Given the description of an element on the screen output the (x, y) to click on. 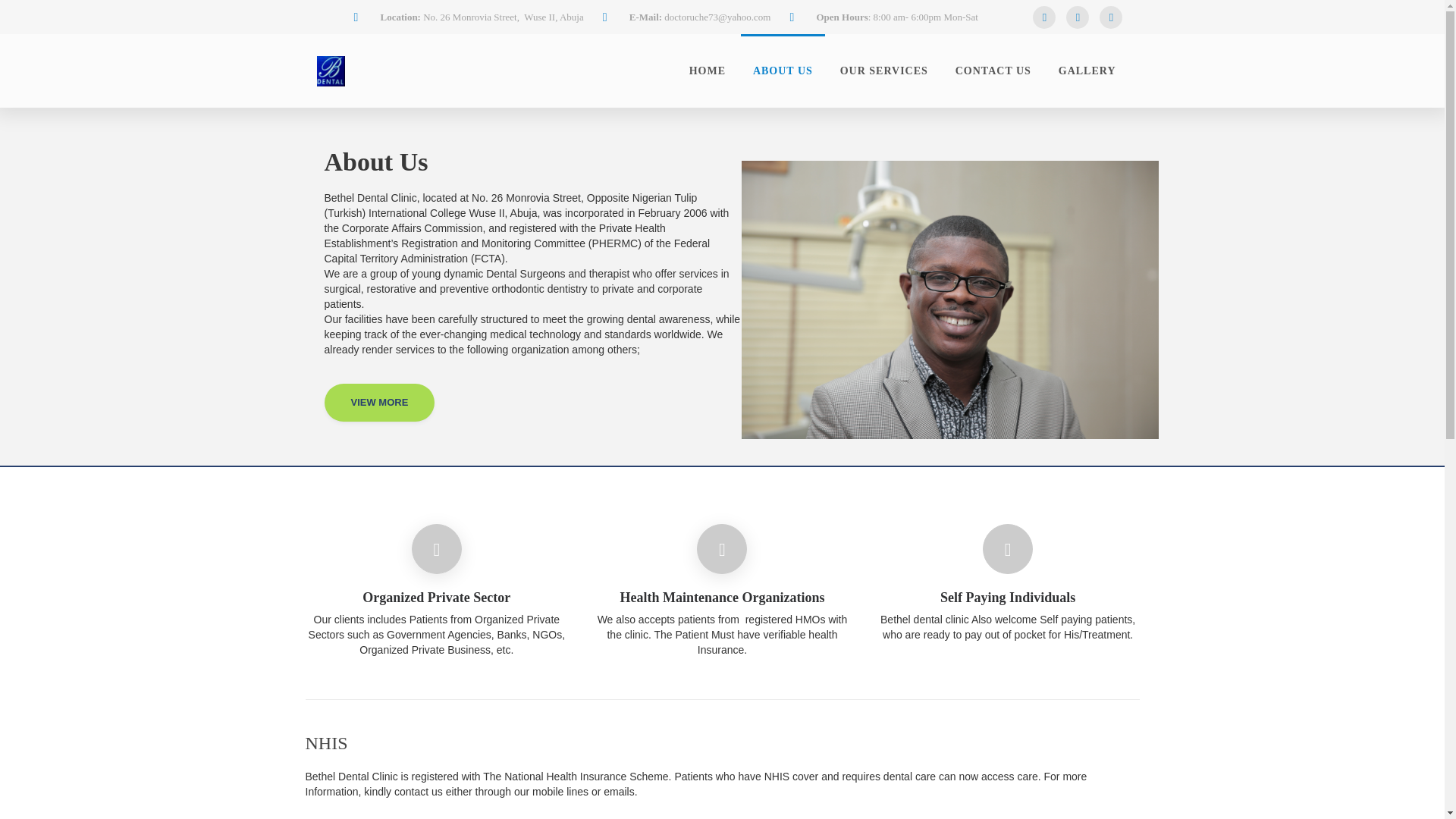
GALLERY (1087, 70)
Location: No. 26 Monrovia Street,  Wuse II, Abuja (468, 16)
ABOUT US (782, 70)
Organized Private Sector (436, 597)
Self Paying Individuals (1007, 597)
CONTACT US (992, 70)
HOME (706, 70)
VIEW MORE (379, 402)
Open Hours: 8:00 am- 6:00pm Mon-Sat (882, 16)
OUR SERVICES (884, 70)
Health Maintenance Organizations (722, 597)
